Given the description of an element on the screen output the (x, y) to click on. 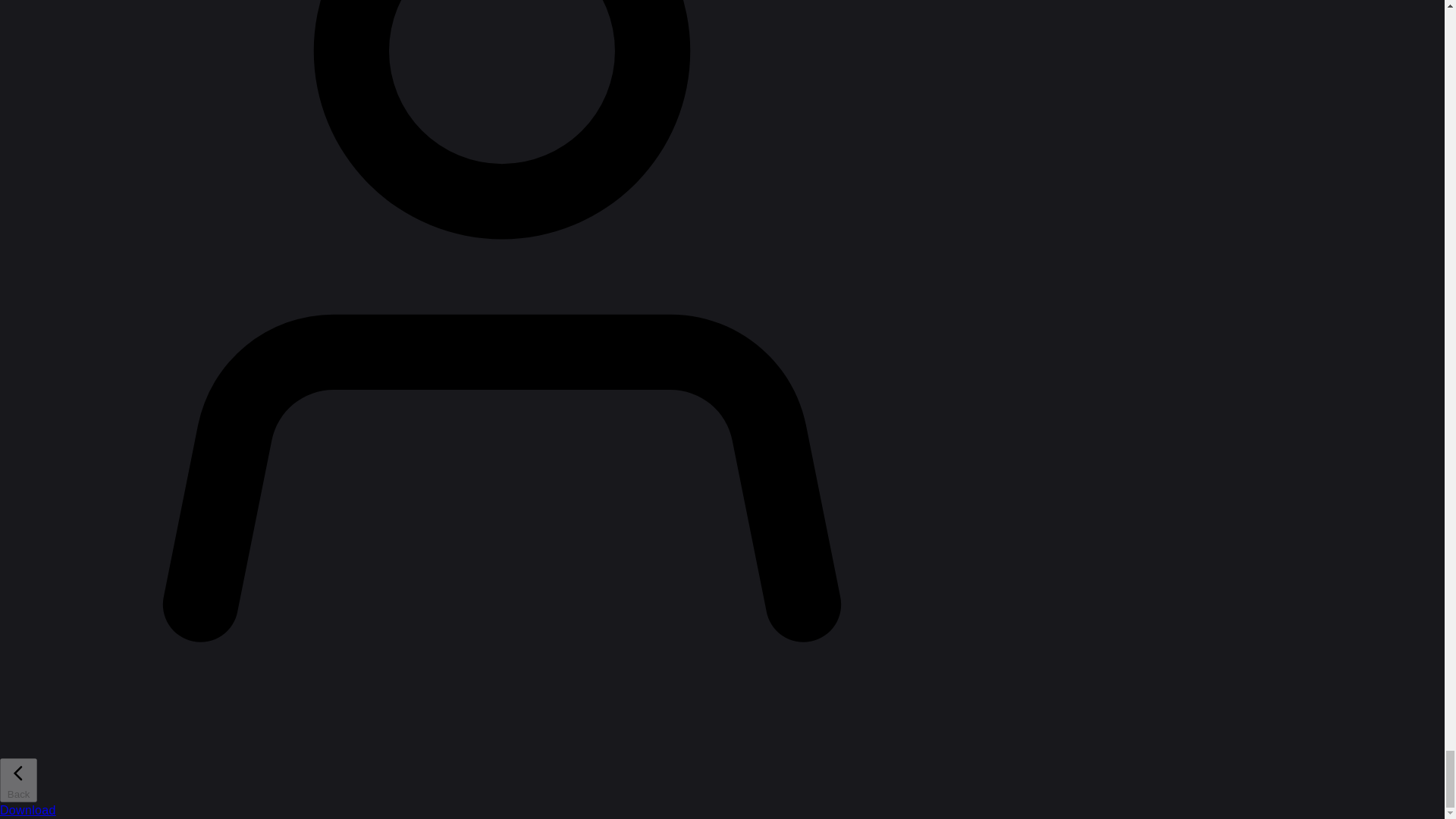
this topic has been viewed 579 times (1306, 10)
